Given the description of an element on the screen output the (x, y) to click on. 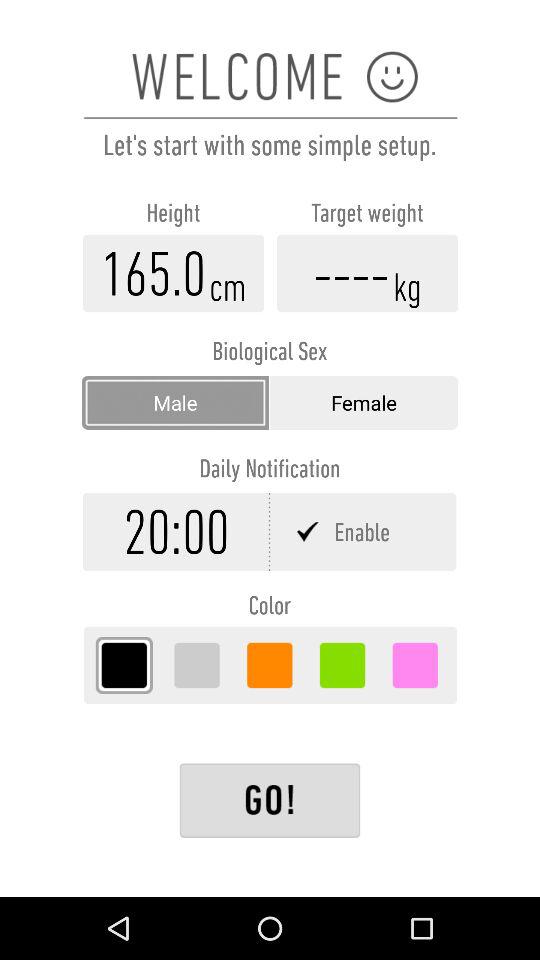
select color option lime green (342, 665)
